Given the description of an element on the screen output the (x, y) to click on. 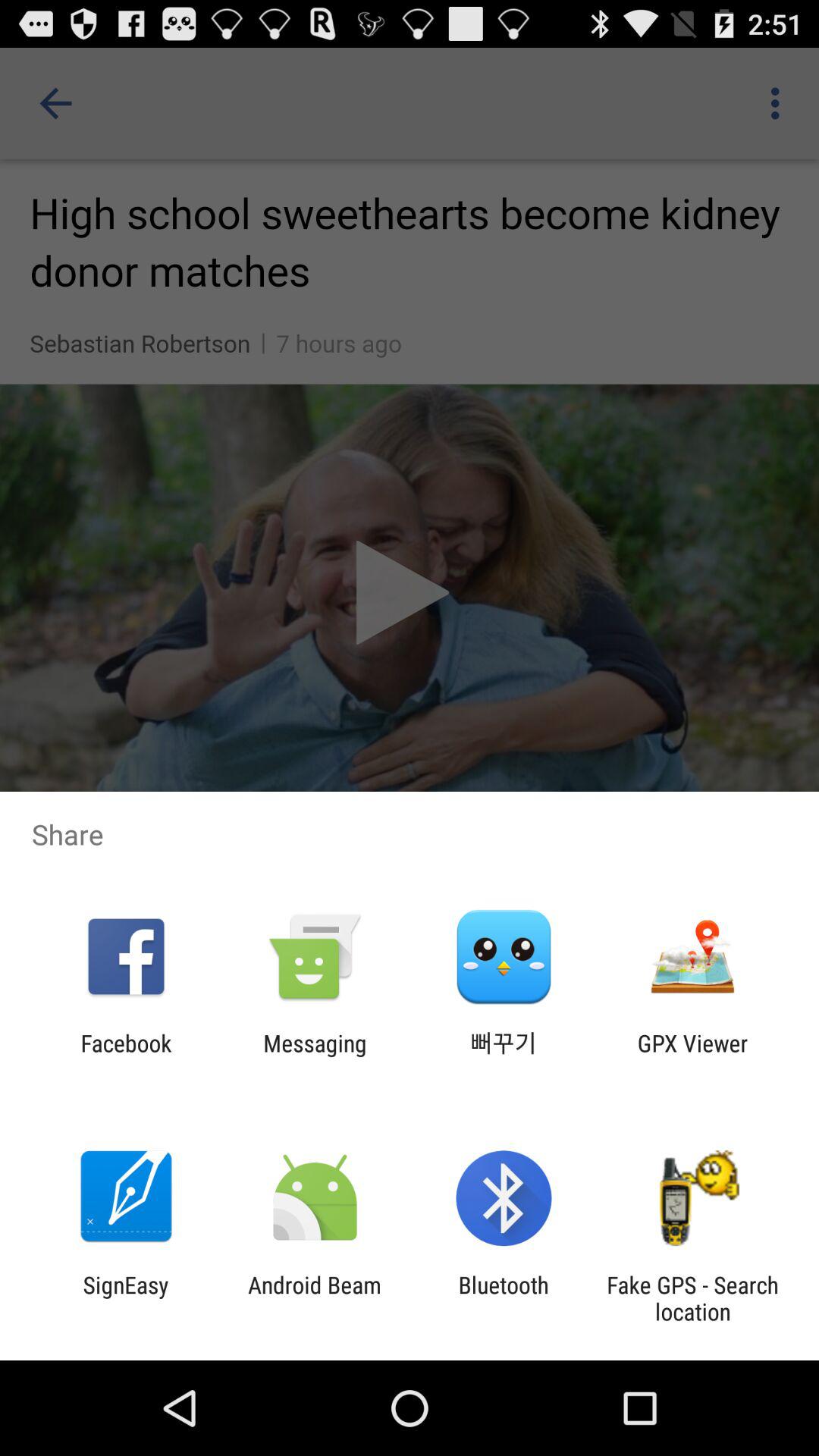
select bluetooth icon (503, 1298)
